Given the description of an element on the screen output the (x, y) to click on. 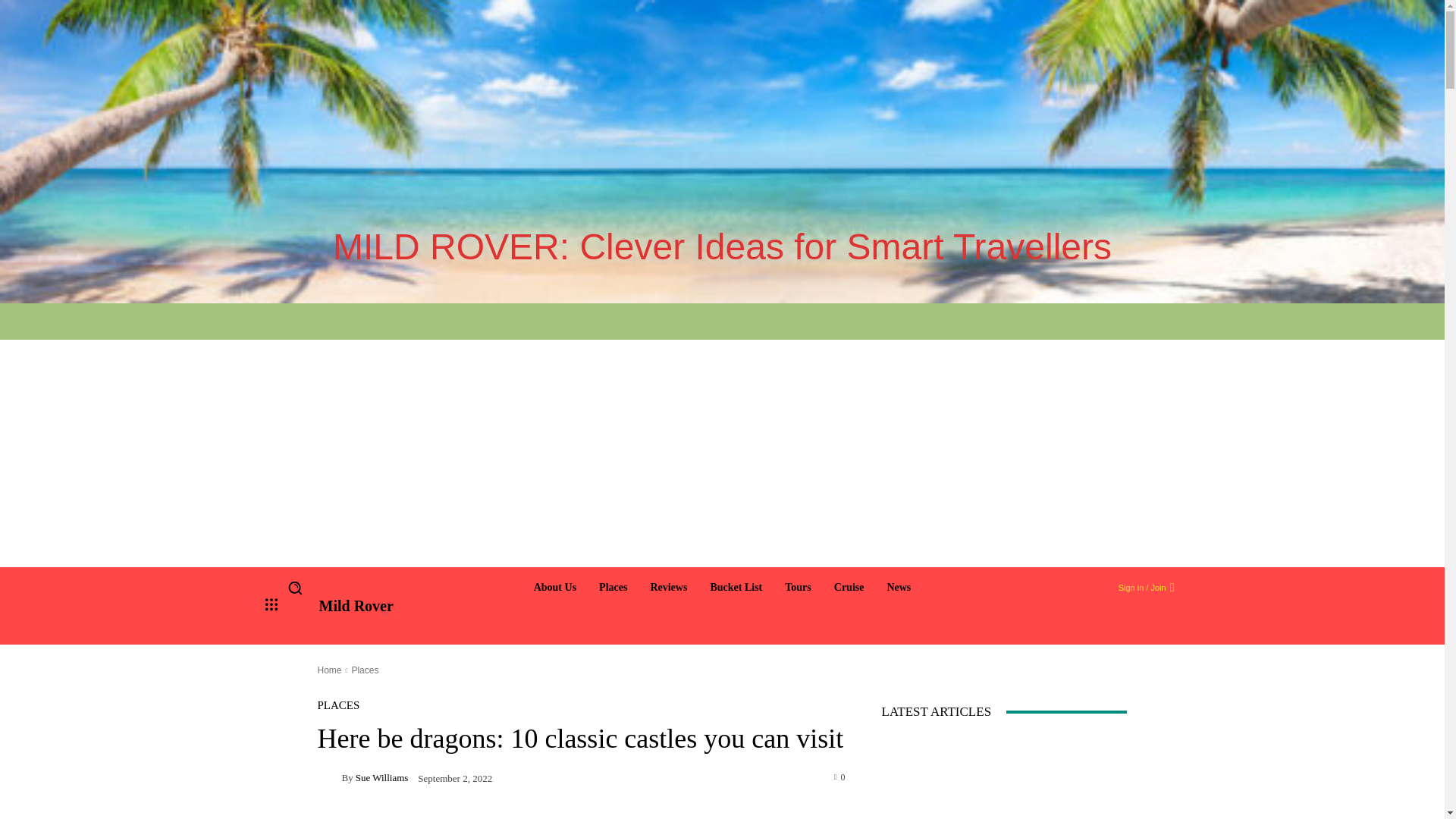
Places (364, 670)
Bucket List (735, 587)
Reviews (668, 587)
Cruise (849, 587)
Tours (797, 587)
0 (839, 776)
View all posts in Places (364, 670)
About Us (554, 587)
PLACES (338, 705)
Sue Williams (328, 777)
